Given the description of an element on the screen output the (x, y) to click on. 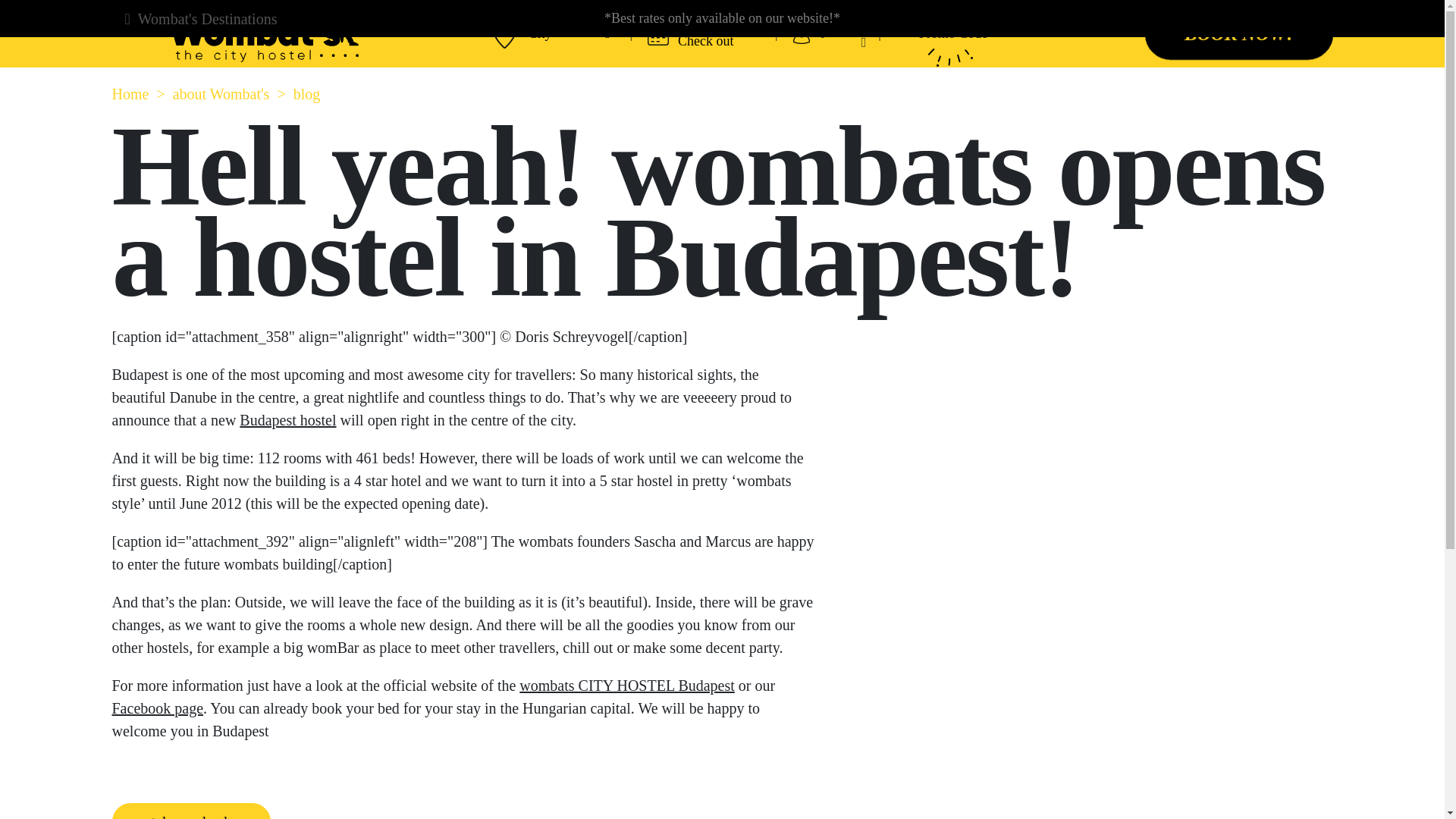
Wombat's Destinations (207, 18)
about Wombat's (221, 93)
wombats CITY HOSTEL Budapest (627, 685)
Wombats Hostels (263, 33)
blog (307, 93)
Calendar (657, 33)
about Wombat's (221, 93)
Home (130, 93)
back to overview (191, 811)
take me back (191, 811)
blog (307, 93)
City (569, 33)
Facebook page (157, 708)
Home (130, 93)
Budapest hostel (288, 419)
